Given the description of an element on the screen output the (x, y) to click on. 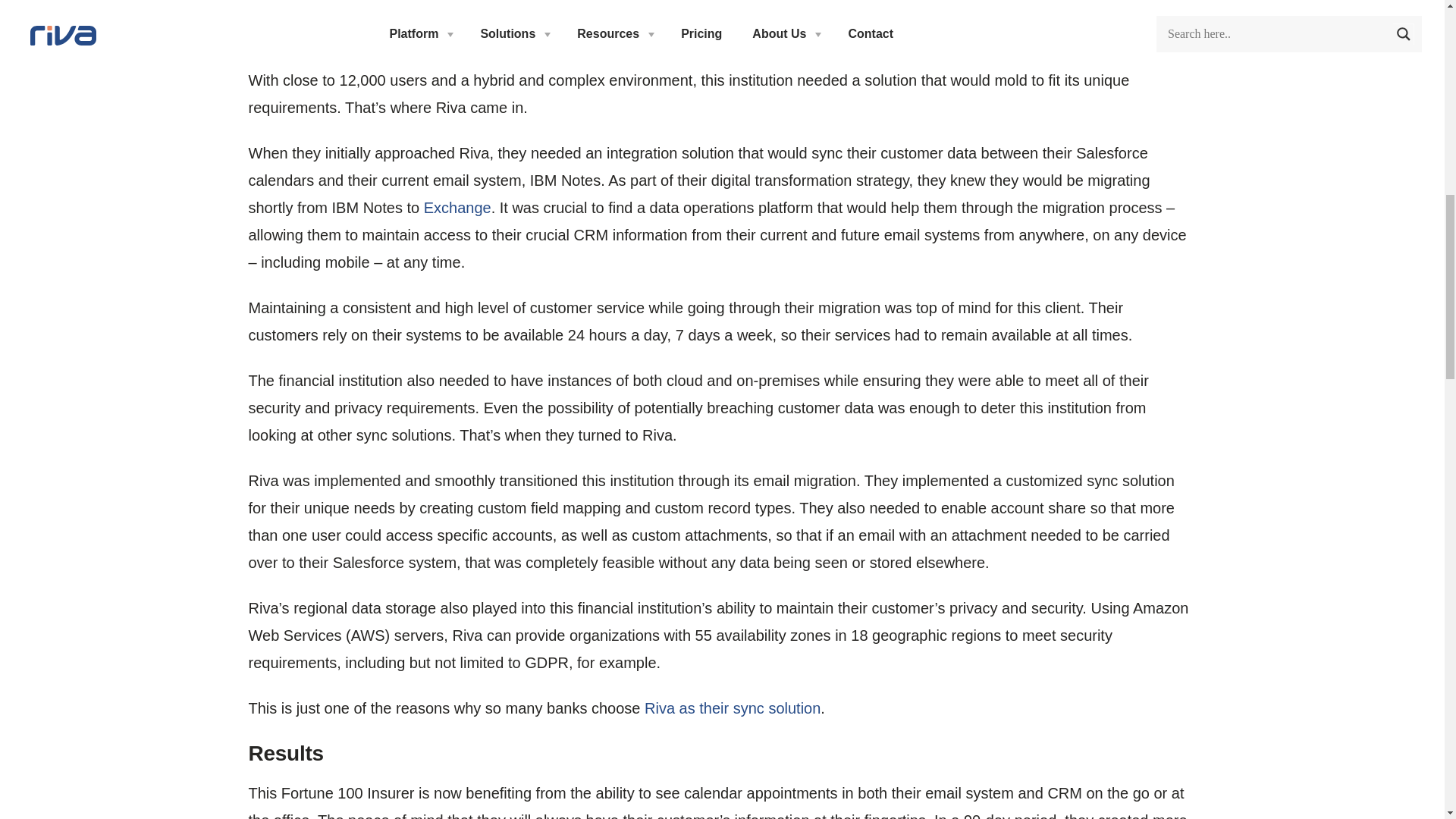
Exchange (457, 207)
Riva as their sync solution (733, 708)
